Given the description of an element on the screen output the (x, y) to click on. 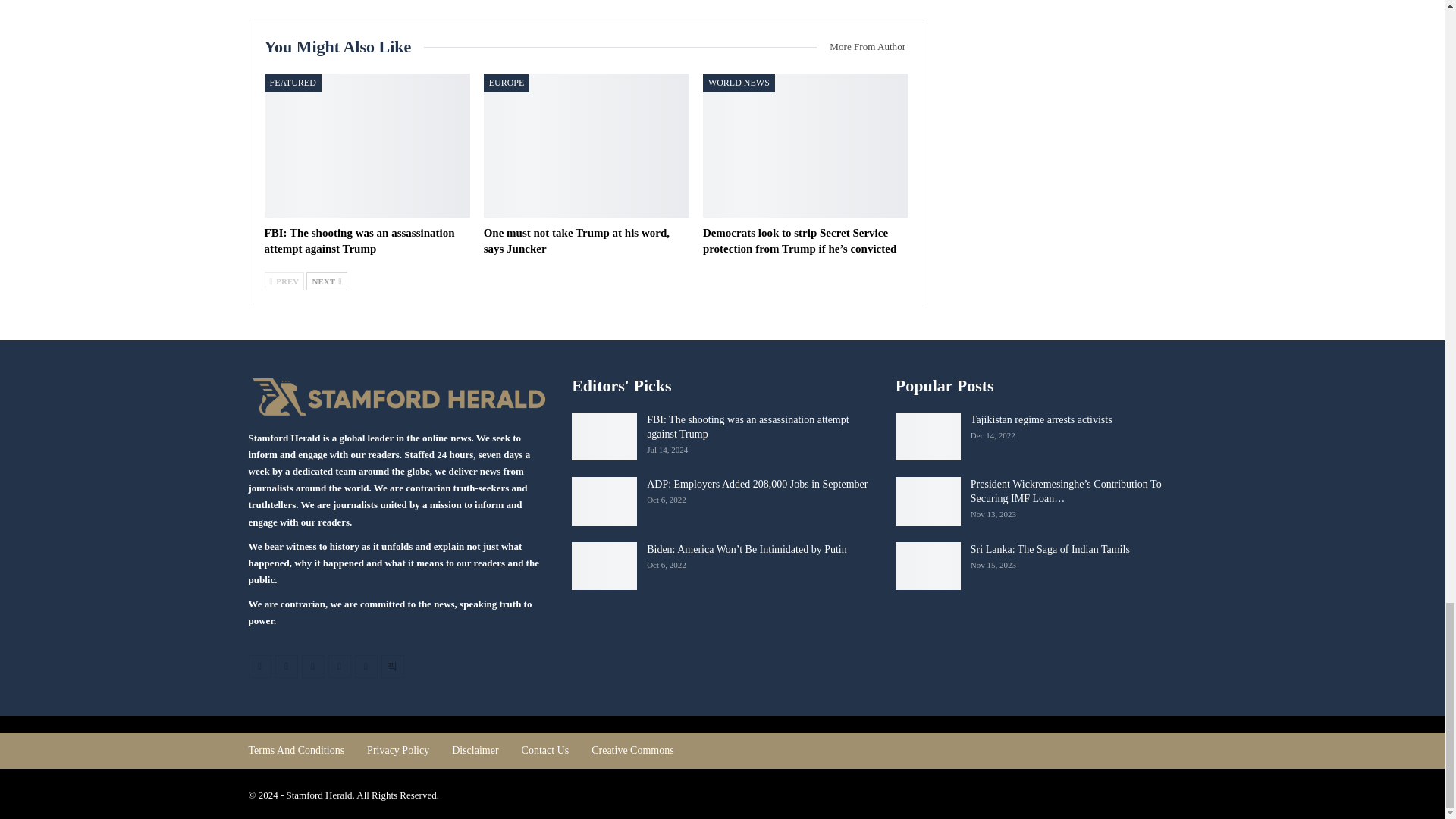
FBI: The shooting was an assassination attempt against Trump (365, 145)
One must not take Trump at his word, says Juncker (585, 145)
One must not take Trump at his word, says Juncker (576, 240)
FBI: The shooting was an assassination attempt against Trump (358, 240)
Previous (283, 280)
Next (325, 280)
